Given the description of an element on the screen output the (x, y) to click on. 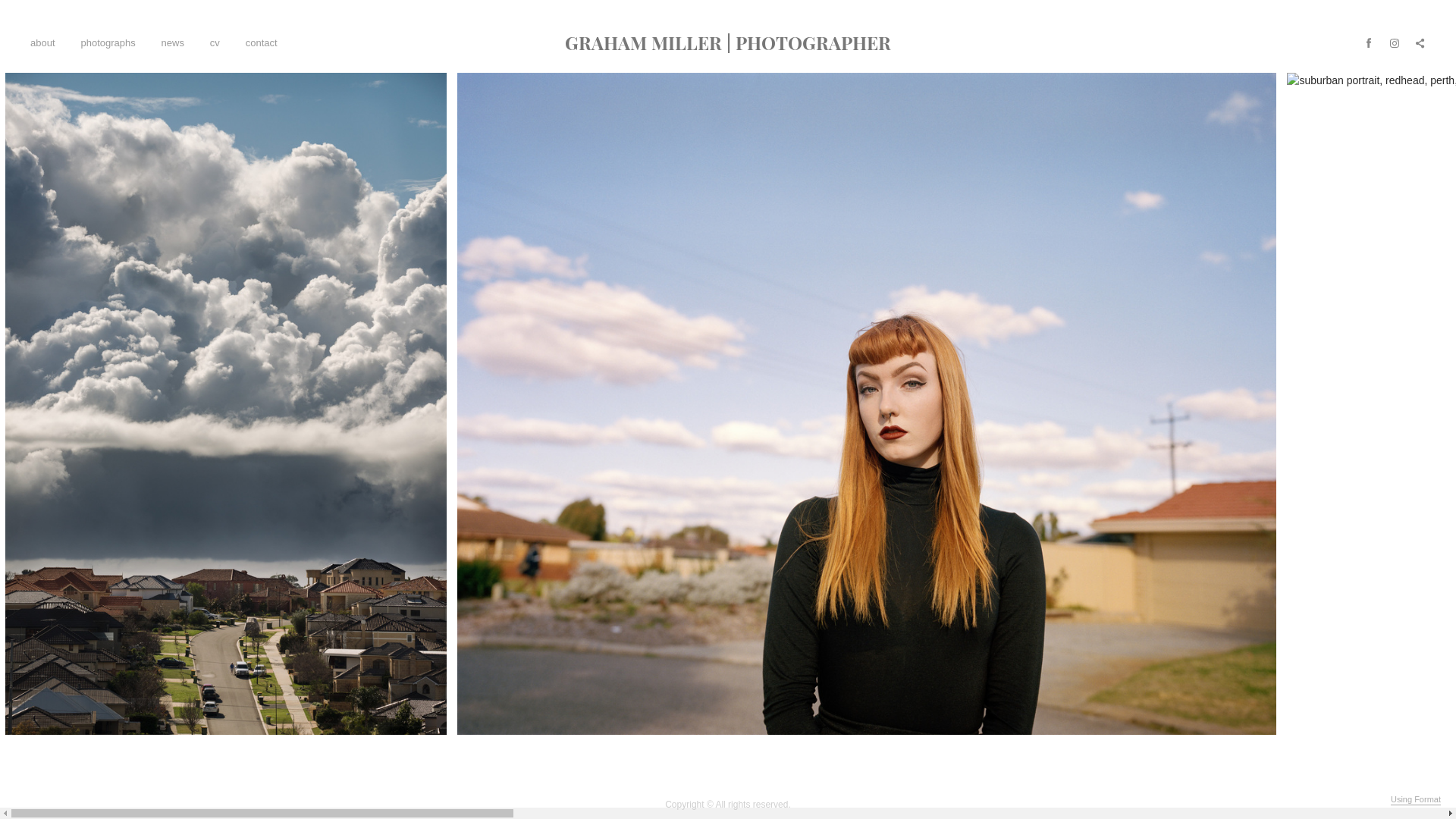
photographs Element type: text (107, 42)
Share Element type: hover (1420, 42)
Facebook Element type: hover (1368, 42)
Instagram Element type: hover (1394, 42)
Using Format Element type: text (1415, 799)
news Element type: text (172, 42)
cv Element type: text (214, 42)
contact Element type: text (261, 42)
GRAHAM MILLER | PHOTOGRAPHER Element type: text (727, 42)
about Element type: text (42, 42)
